Given the description of an element on the screen output the (x, y) to click on. 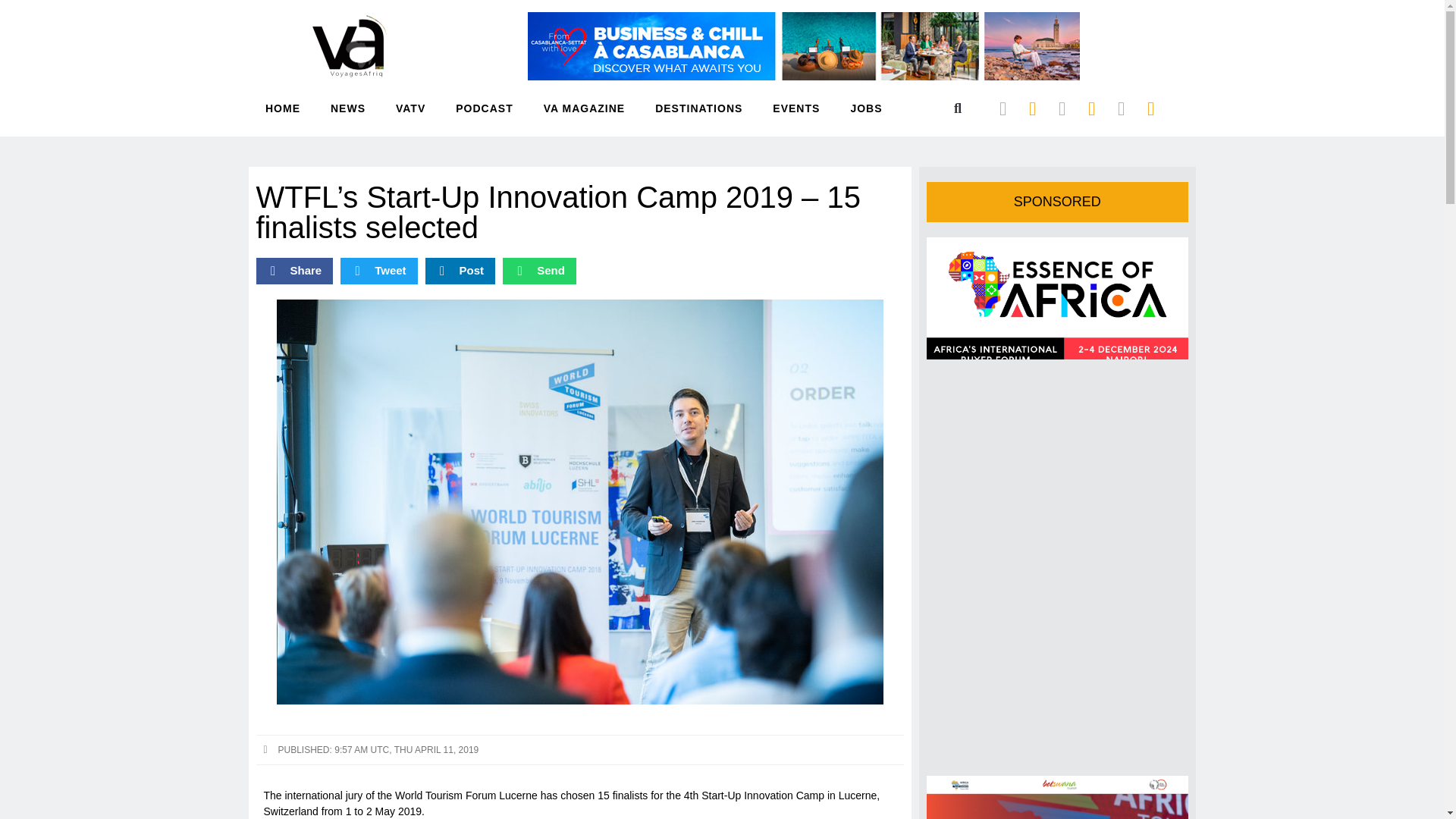
DESTINATIONS (698, 108)
PODCAST (483, 108)
VA MAGAZINE (583, 108)
